Given the description of an element on the screen output the (x, y) to click on. 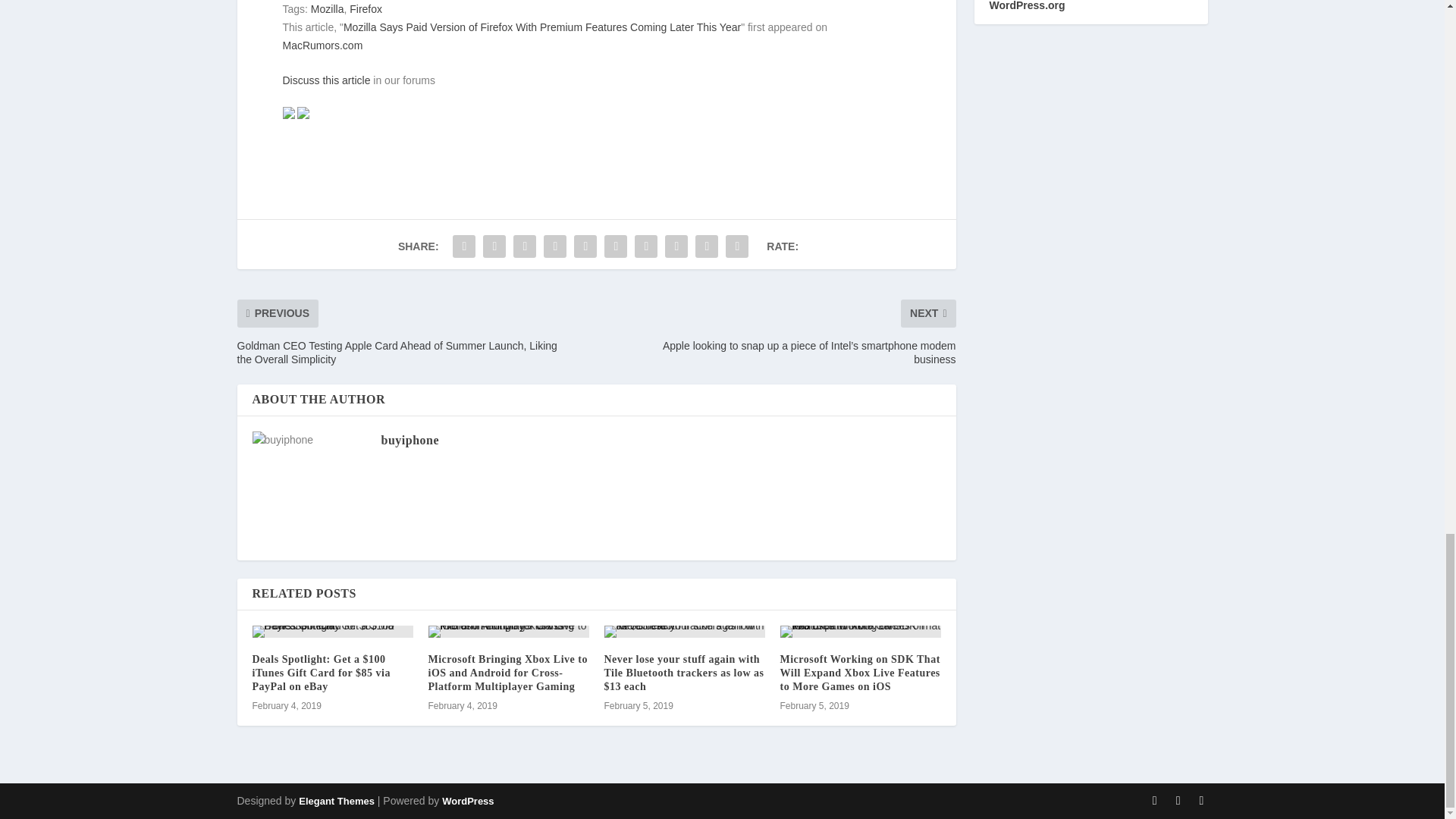
Firefox (365, 9)
Mozilla (327, 9)
Discuss this article (325, 80)
buyiphone (409, 440)
MacRumors.com (322, 45)
View all posts by buyiphone (409, 440)
